Given the description of an element on the screen output the (x, y) to click on. 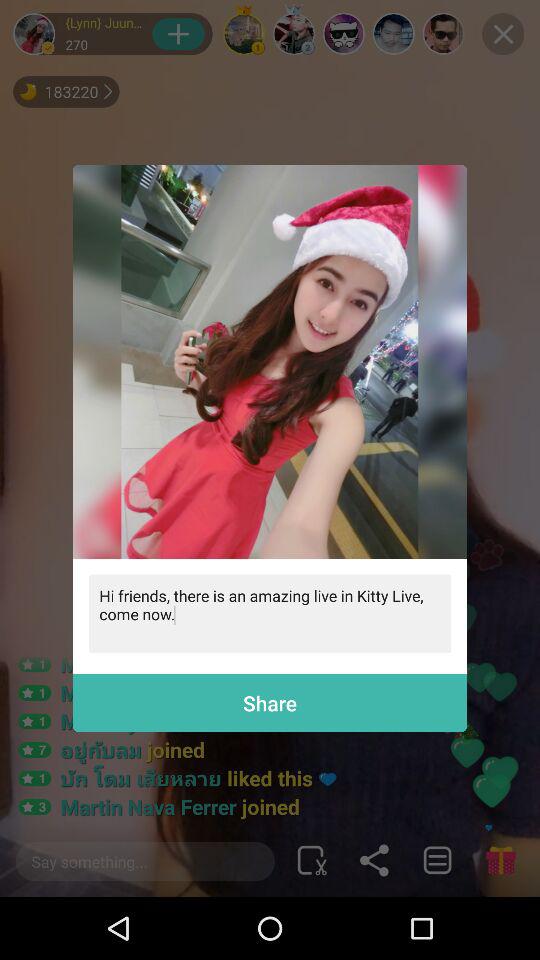
tap share icon (269, 702)
